Given the description of an element on the screen output the (x, y) to click on. 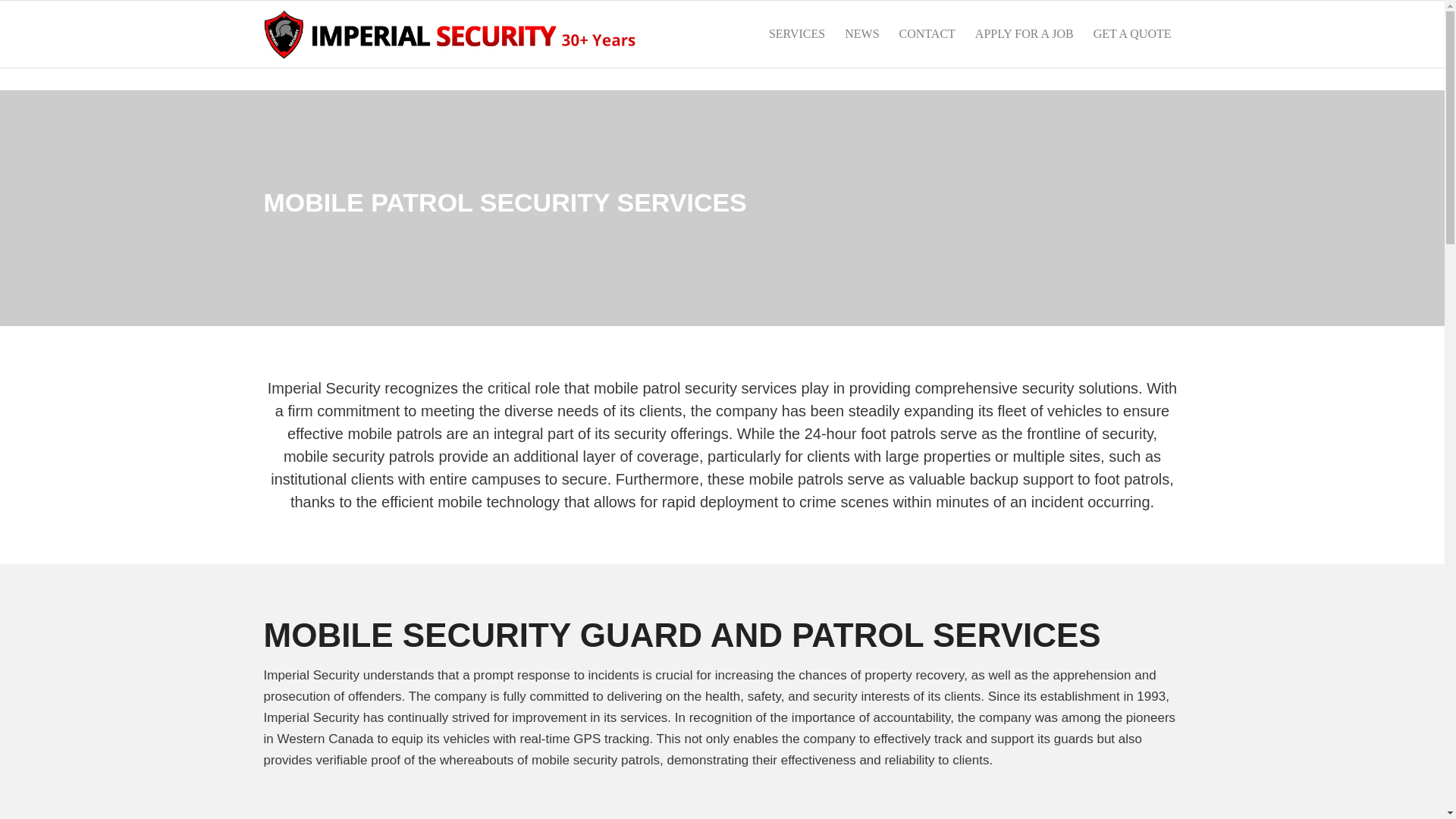
CONTACT (927, 33)
APPLY FOR A JOB (1024, 33)
SERVICES (796, 33)
GET A QUOTE (1131, 33)
Imperial-Security (450, 33)
